Given the description of an element on the screen output the (x, y) to click on. 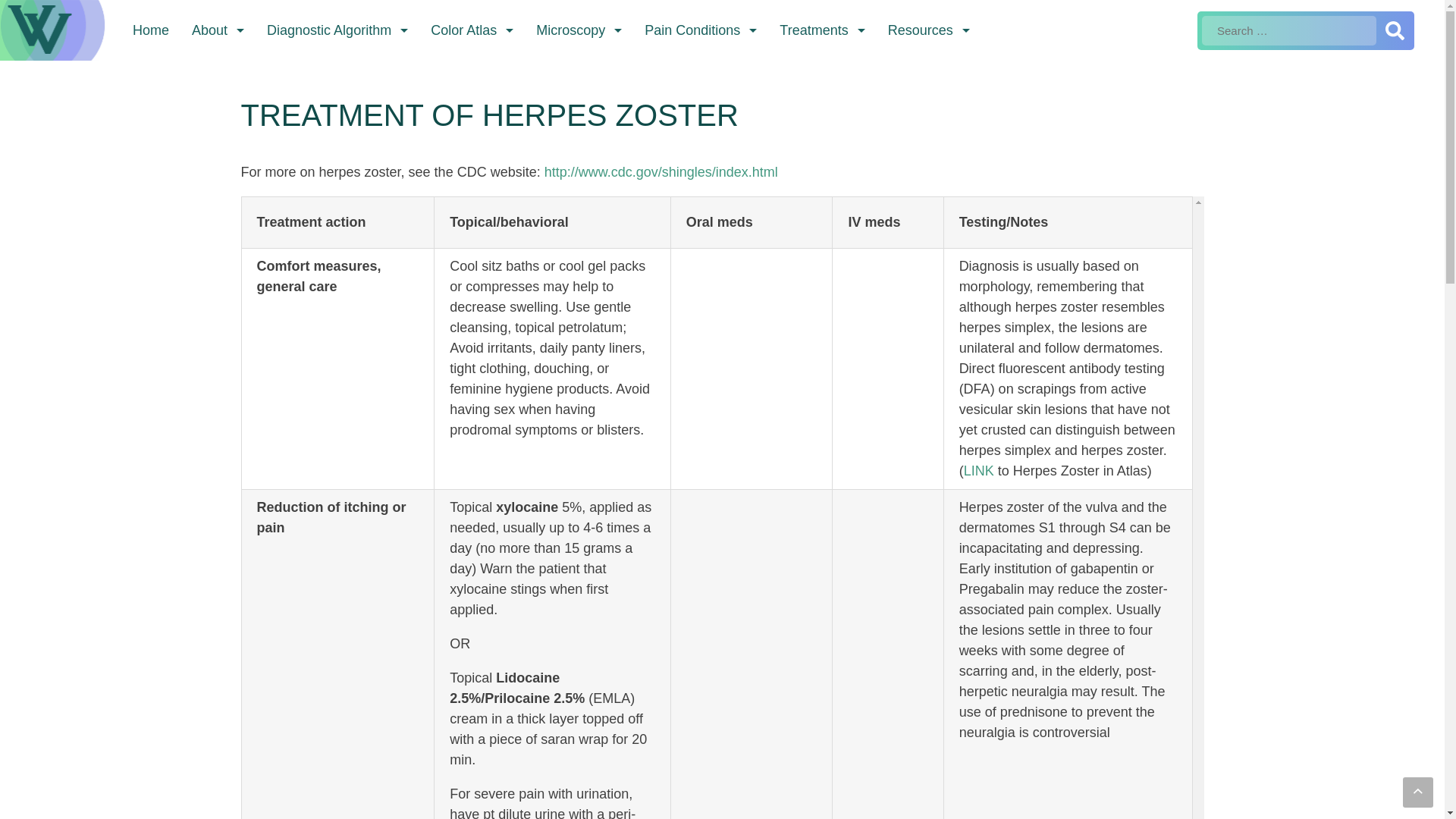
Home (150, 29)
Diagnostic Algorithm (336, 29)
About (218, 29)
Microscopy (578, 29)
Color Atlas (471, 29)
Home (150, 29)
About (218, 29)
Diagnostic Algorithm (336, 29)
